Given the description of an element on the screen output the (x, y) to click on. 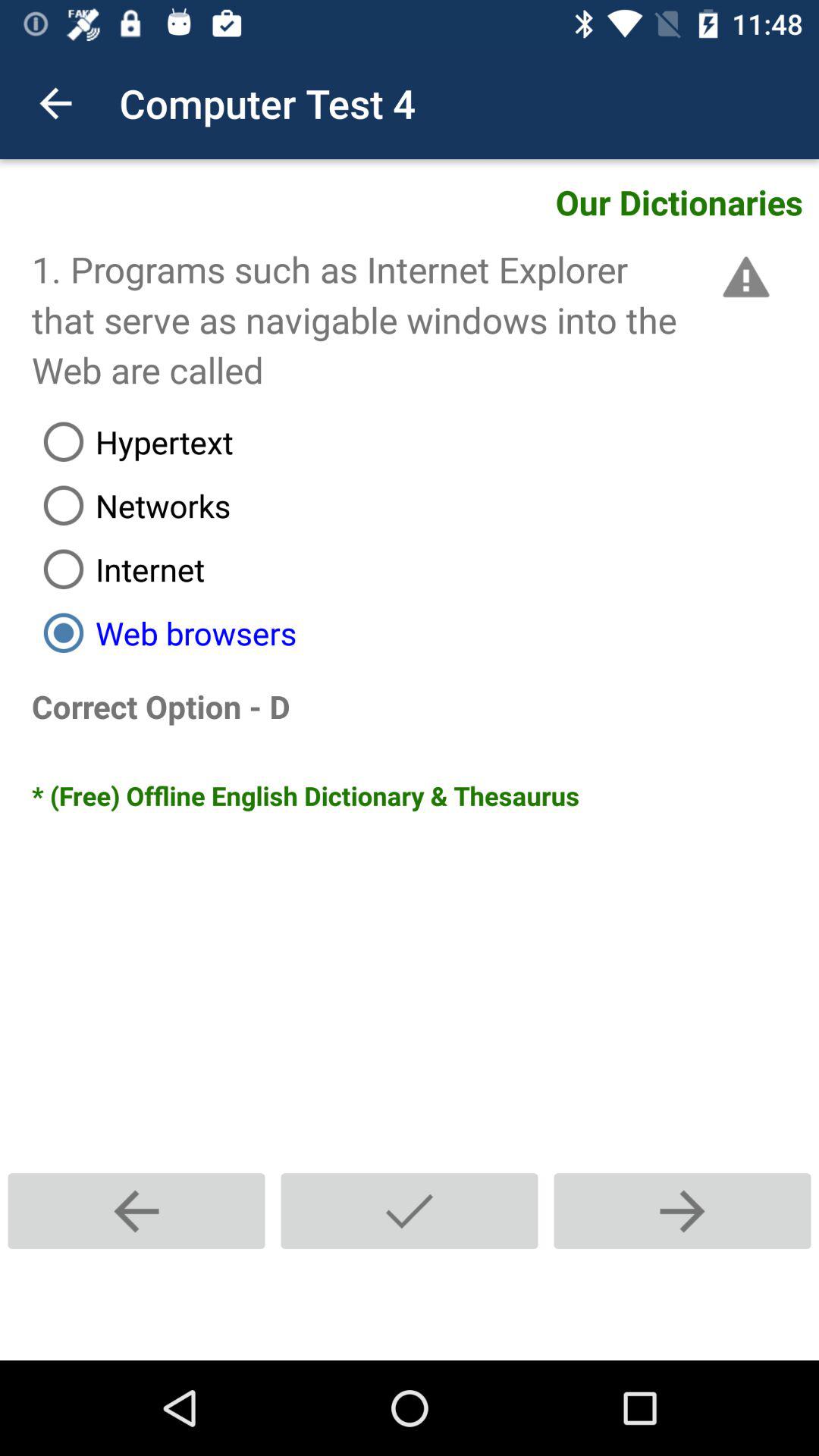
open item below our dictionaries icon (743, 276)
